Given the description of an element on the screen output the (x, y) to click on. 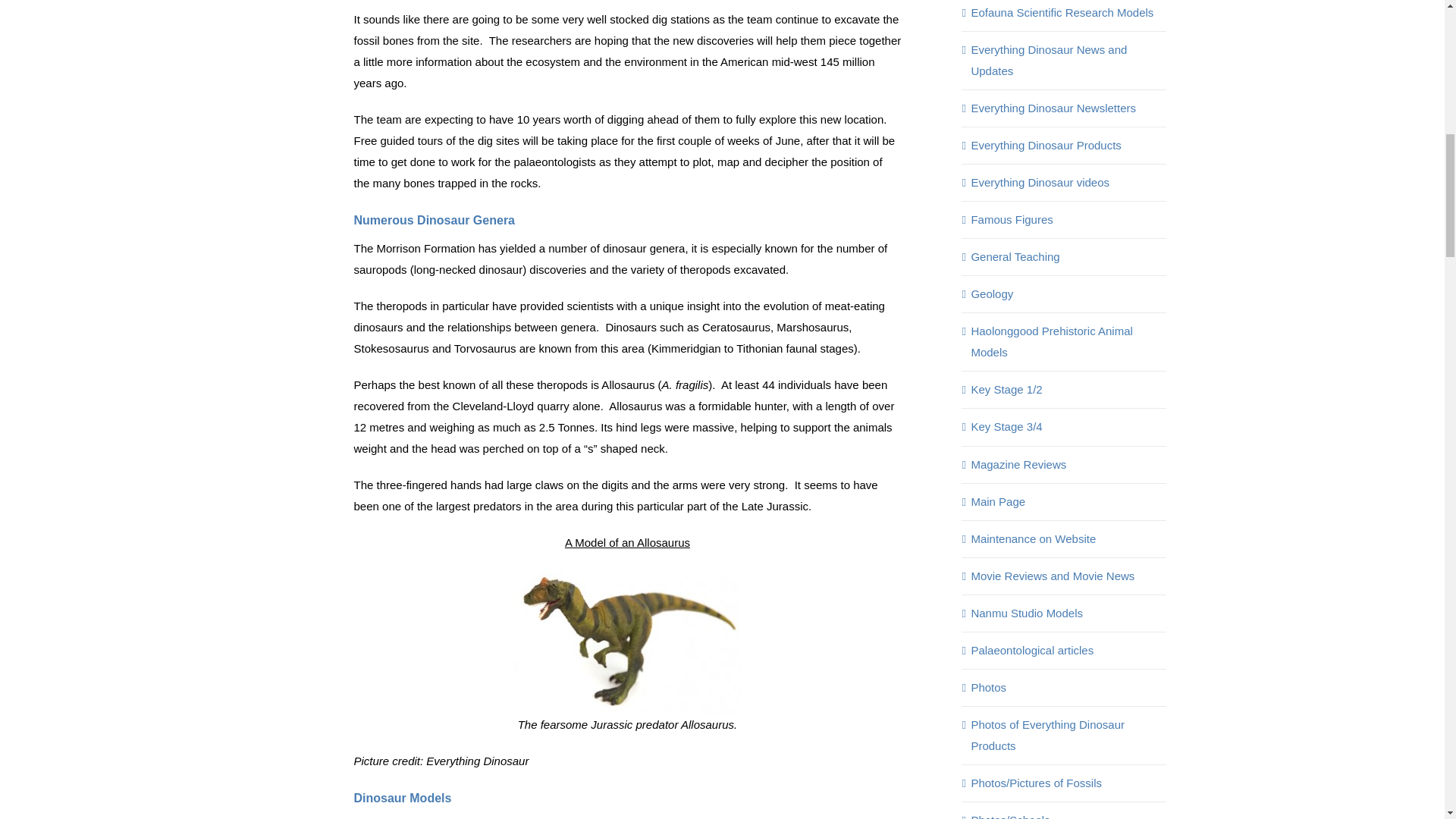
Eofauna Scientific Research Models (1064, 12)
Allosaurus Model (627, 641)
